Given the description of an element on the screen output the (x, y) to click on. 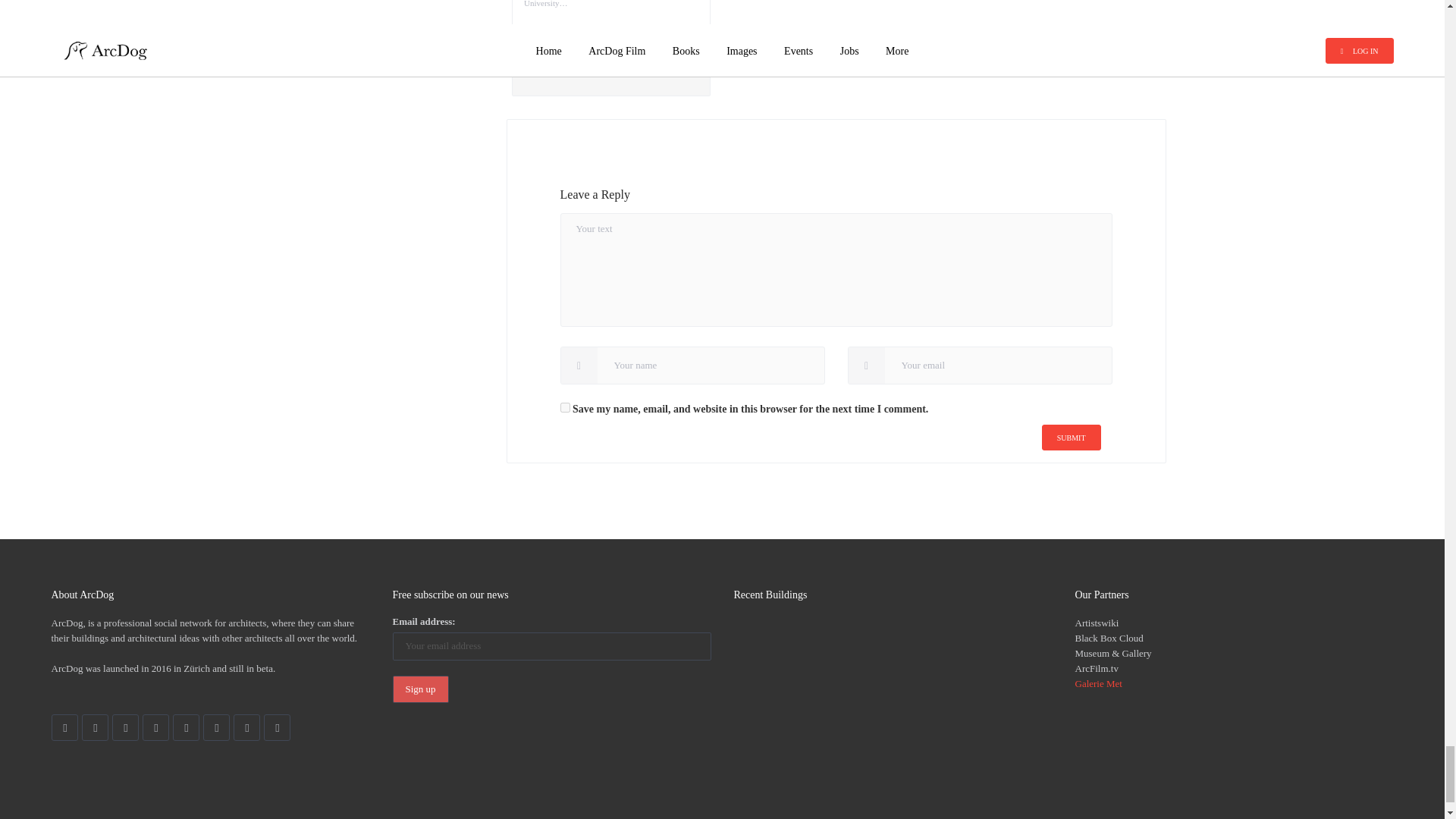
Submit (1071, 437)
yes (564, 407)
Sign up (420, 689)
